Given the description of an element on the screen output the (x, y) to click on. 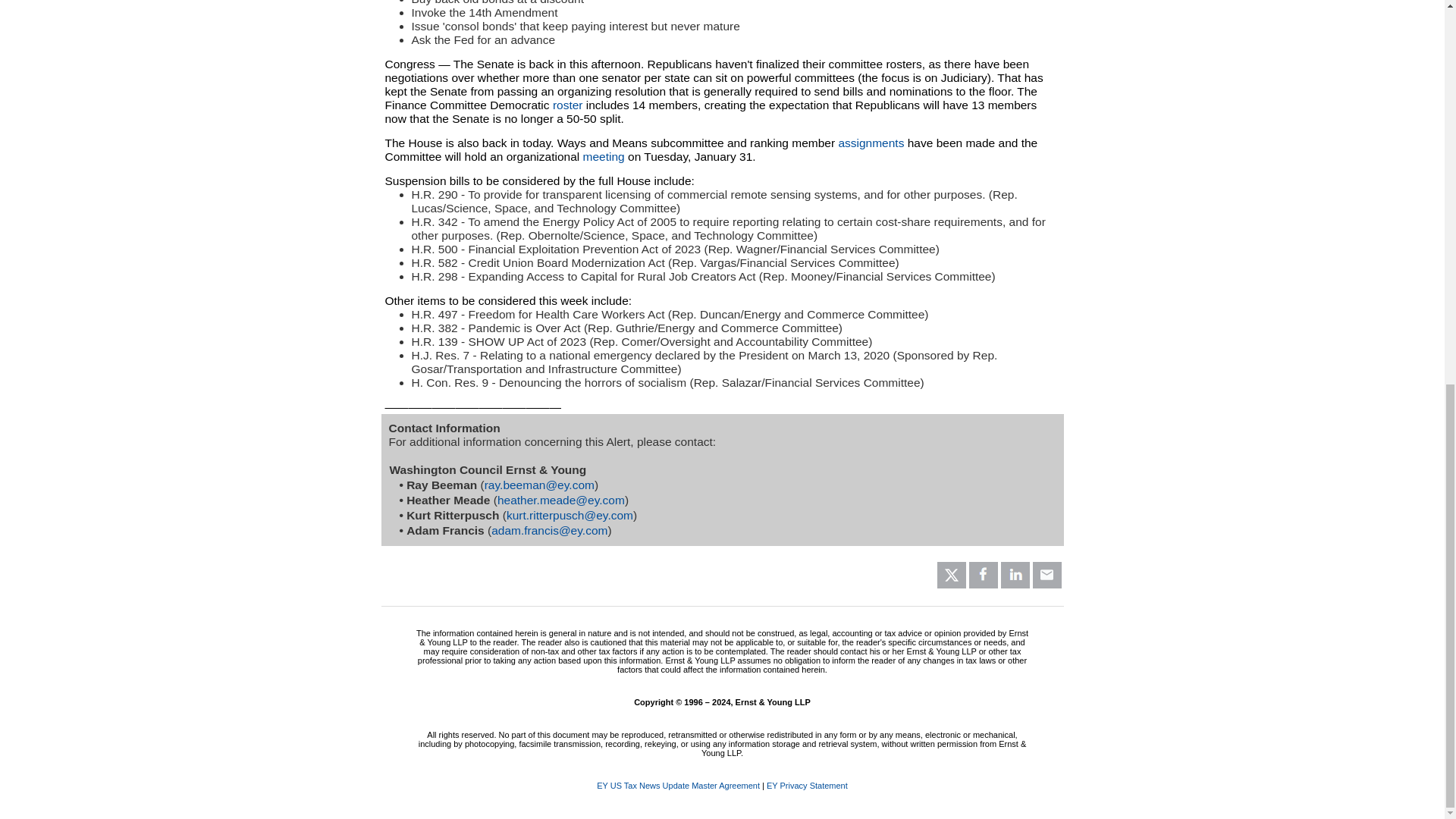
roster (568, 104)
EY Privacy Statement (807, 785)
meeting (603, 155)
assignments (871, 142)
EY US Tax News Update Master Agreement (678, 785)
